Given the description of an element on the screen output the (x, y) to click on. 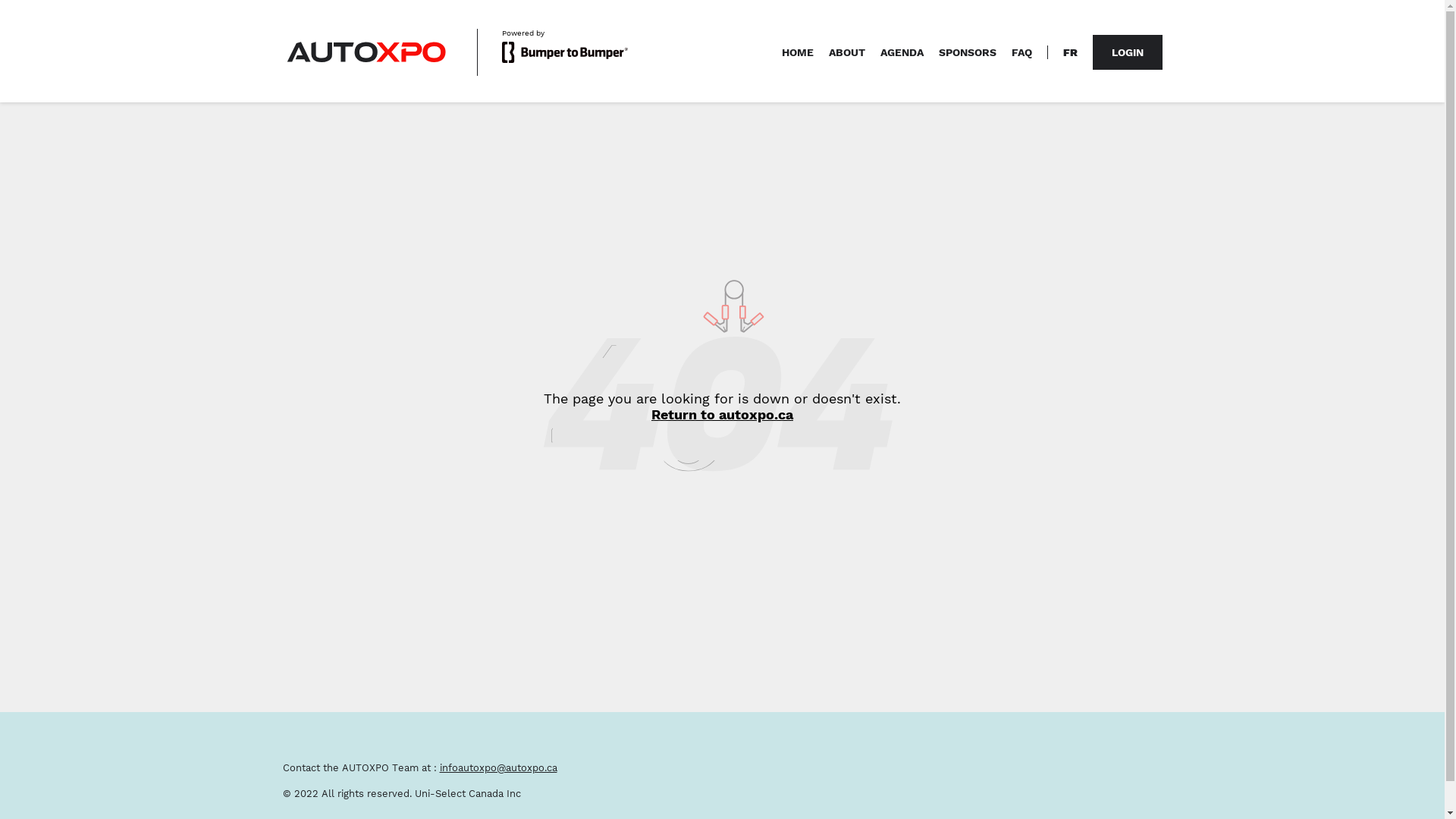
ABOUT Element type: text (846, 52)
HOME Element type: text (796, 52)
FR Element type: text (1070, 52)
infoautoxpo@autoxpo.ca Element type: text (498, 767)
AGENDA Element type: text (900, 52)
SPONSORS Element type: text (967, 52)
LOGIN Element type: text (1126, 51)
FAQ Element type: text (1021, 52)
Return to autoxpo.ca Element type: text (722, 414)
